Given the description of an element on the screen output the (x, y) to click on. 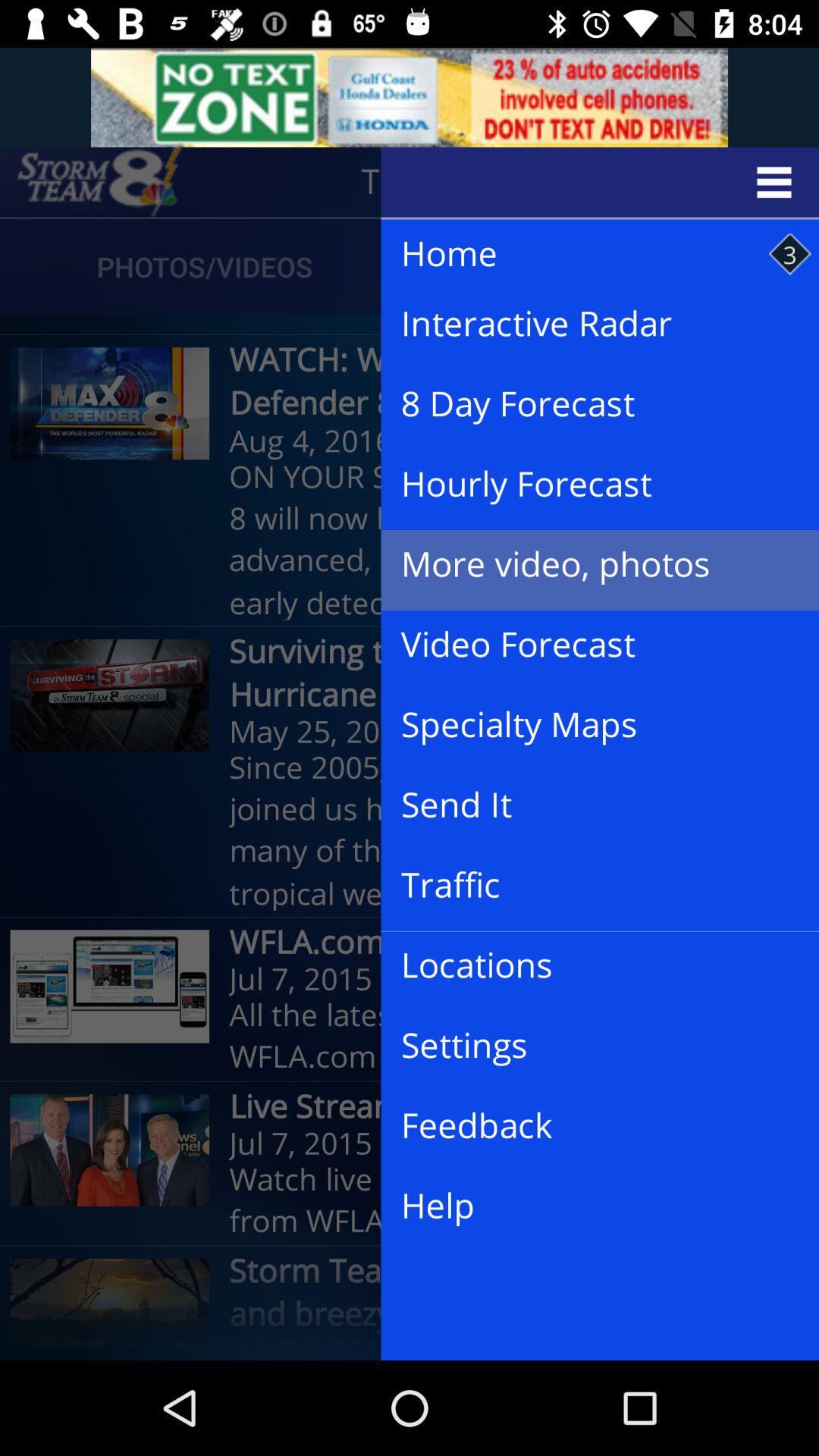
scroll until help (587, 1206)
